Given the description of an element on the screen output the (x, y) to click on. 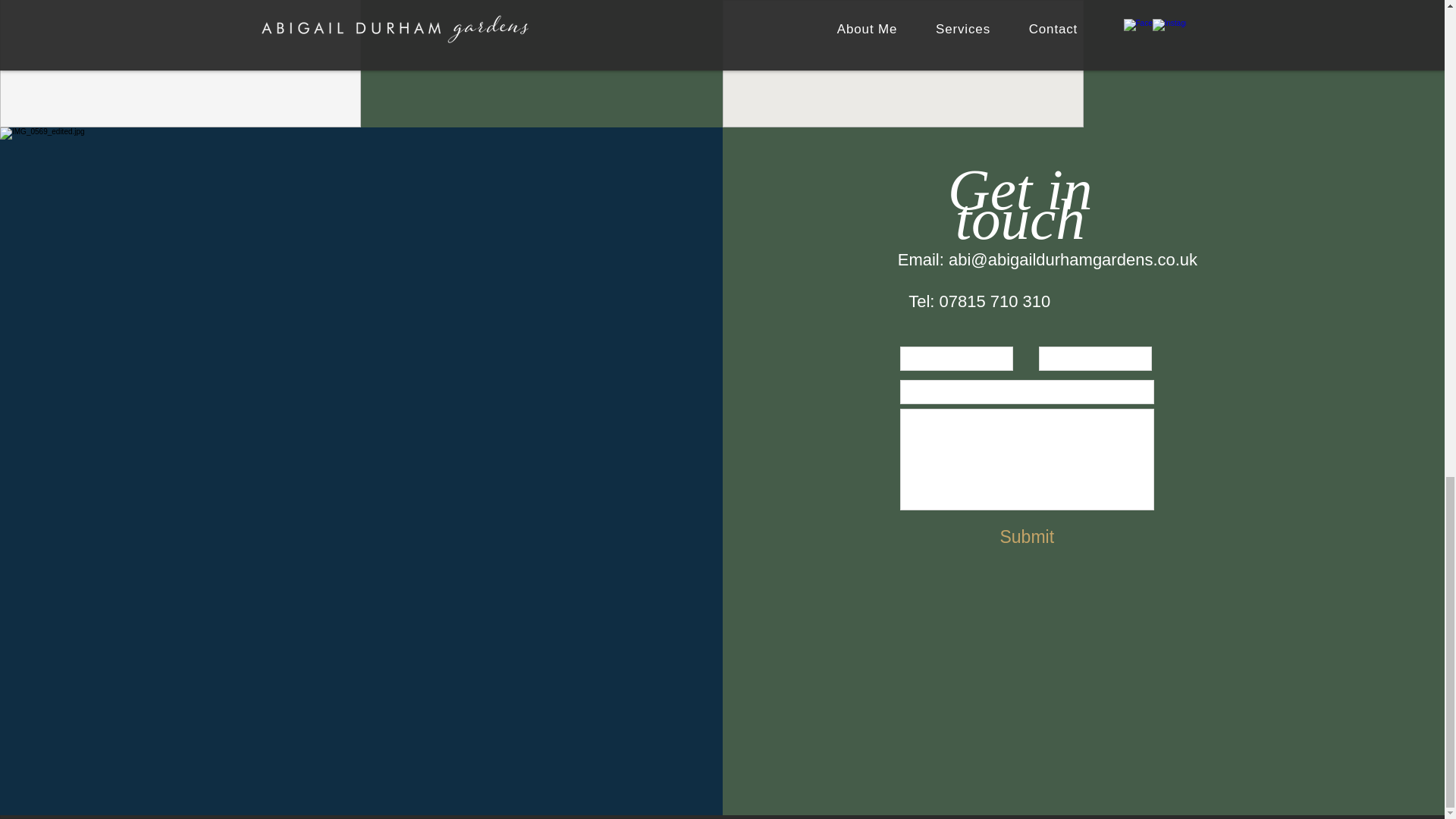
Submit (1026, 536)
Tel: 07815 710 310 (979, 301)
